Given the description of an element on the screen output the (x, y) to click on. 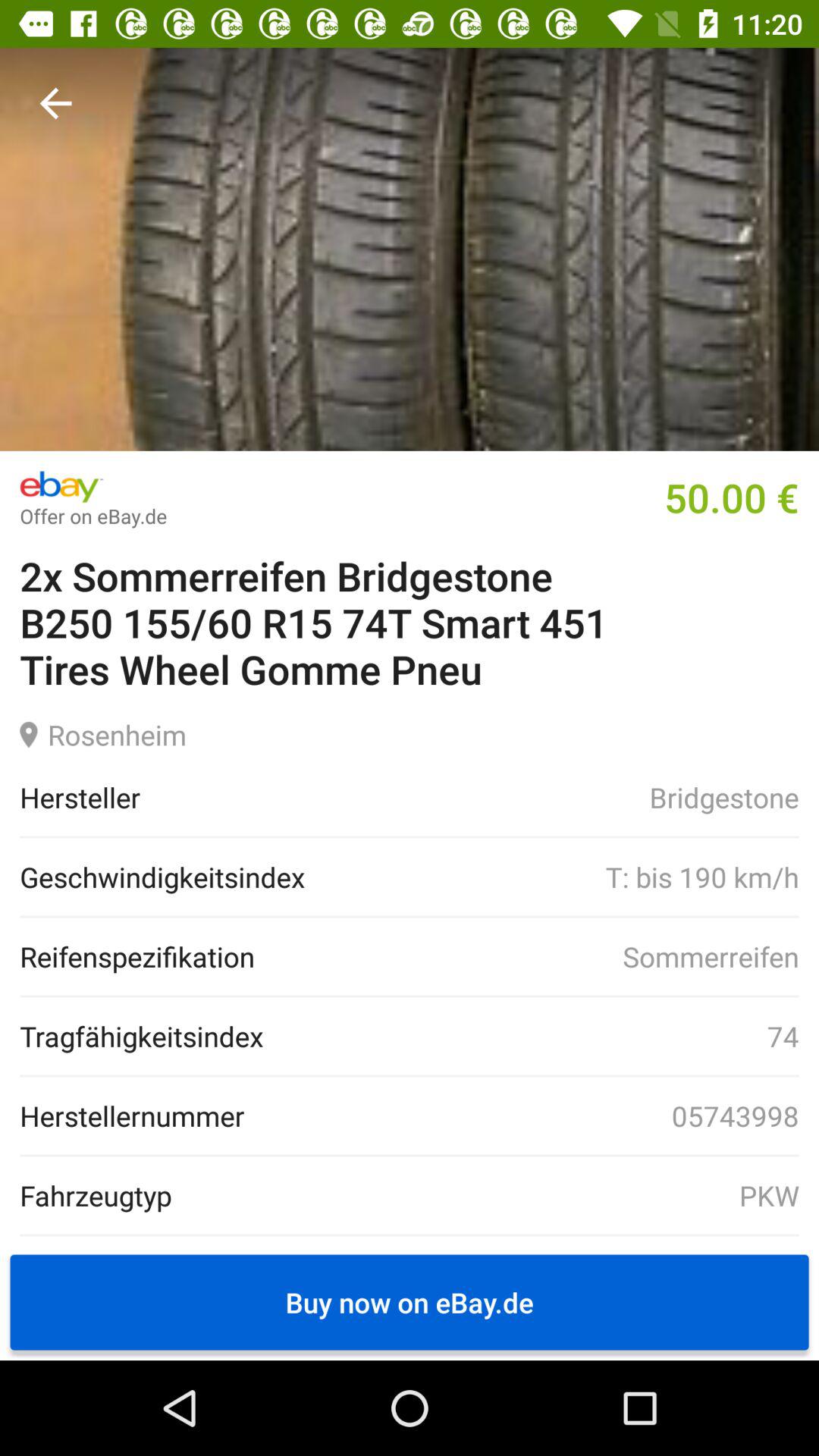
click to go back (55, 103)
